Given the description of an element on the screen output the (x, y) to click on. 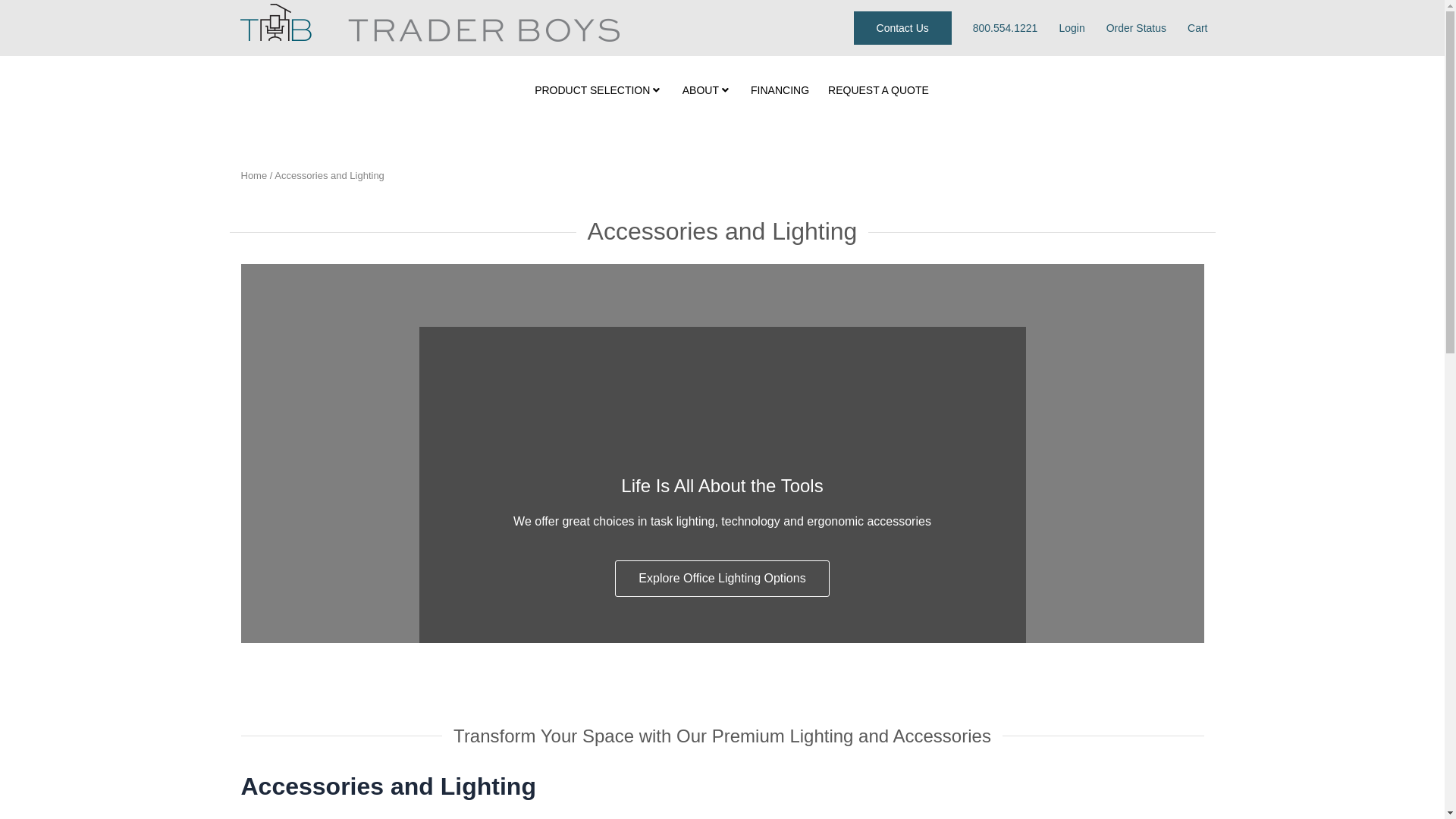
Login (1071, 27)
Contact Us (902, 28)
PRODUCT SELECTION (596, 90)
Order Status (1136, 27)
800.554.1221 (1005, 27)
Cart (1197, 27)
